Given the description of an element on the screen output the (x, y) to click on. 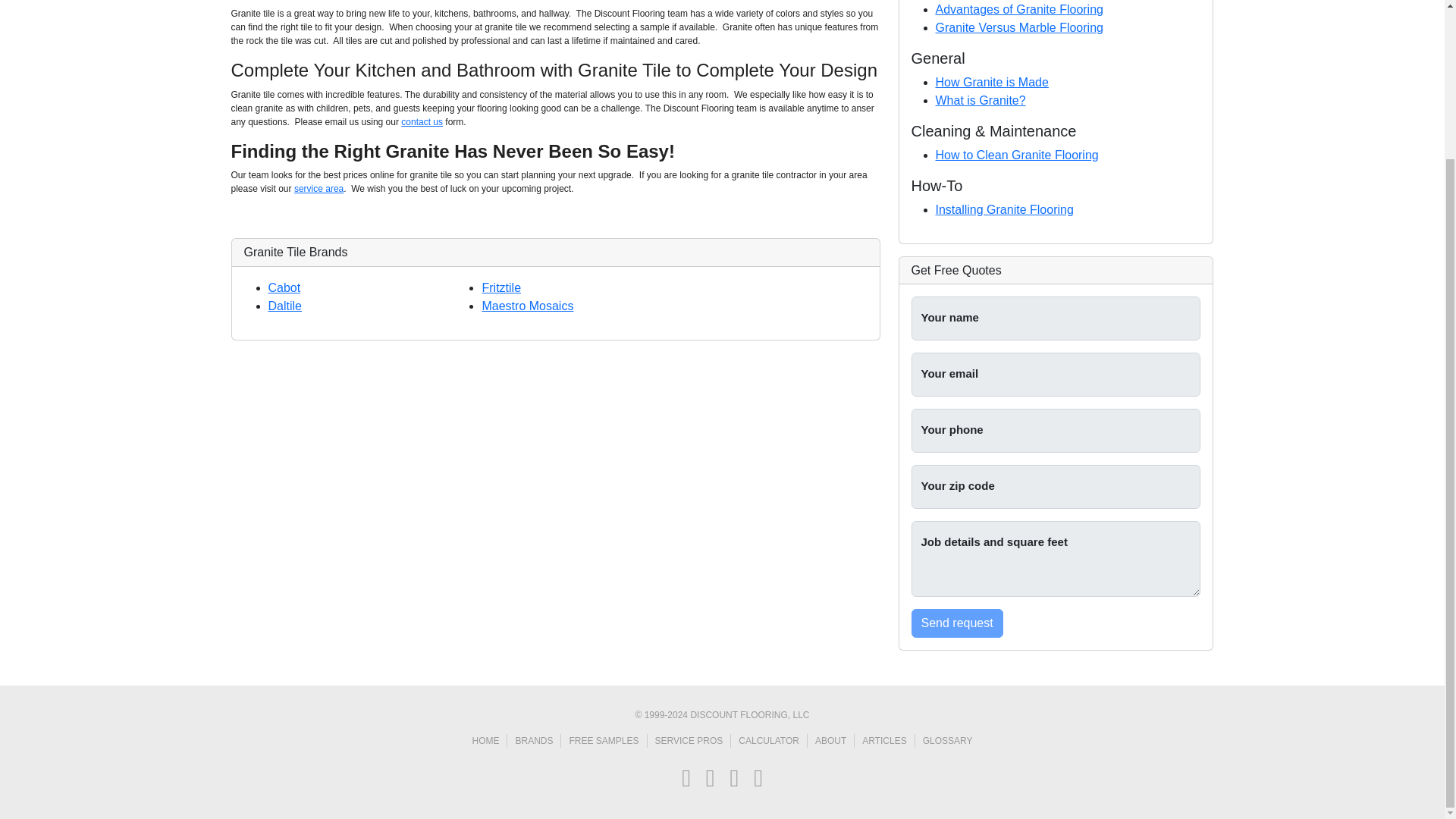
What is Granite? (981, 100)
Maestro Mosaics (527, 305)
Daltile (284, 305)
Cabot (284, 287)
Granite Versus Marble Flooring (1019, 27)
SERVICE PROS (693, 740)
ABOUT (834, 740)
Advantages of Granite Flooring (1019, 9)
FREE SAMPLES (607, 740)
Installing Granite Flooring (1005, 209)
